Given the description of an element on the screen output the (x, y) to click on. 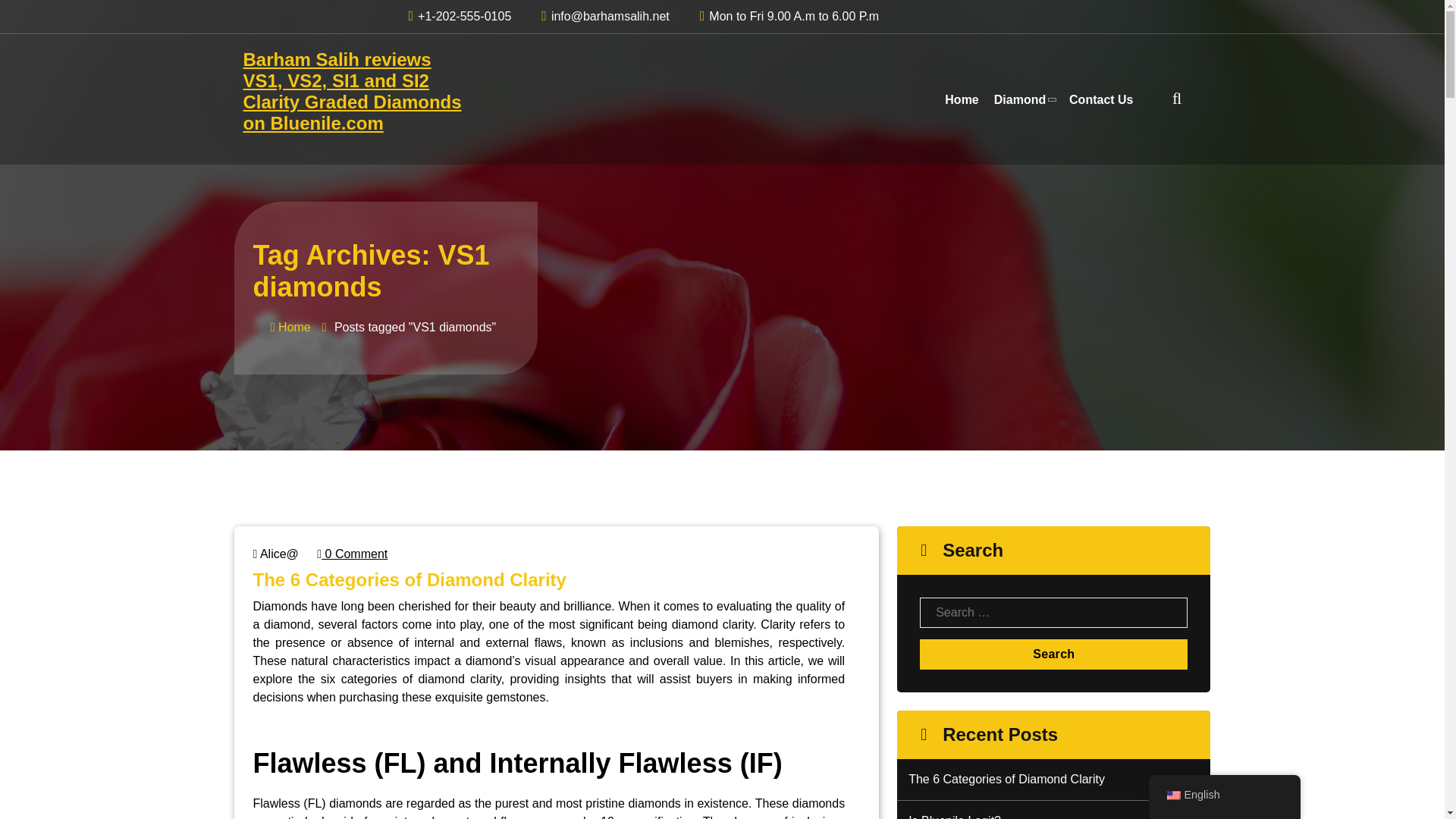
Contact Us (1100, 99)
The 6 Categories of Diamond Clarity (409, 579)
Contact Us (1100, 99)
Is Bluenile Legit? (1053, 815)
Search (1054, 654)
0 Comment (352, 553)
Search (1054, 654)
Diamond (1024, 99)
Home (290, 327)
